Given the description of an element on the screen output the (x, y) to click on. 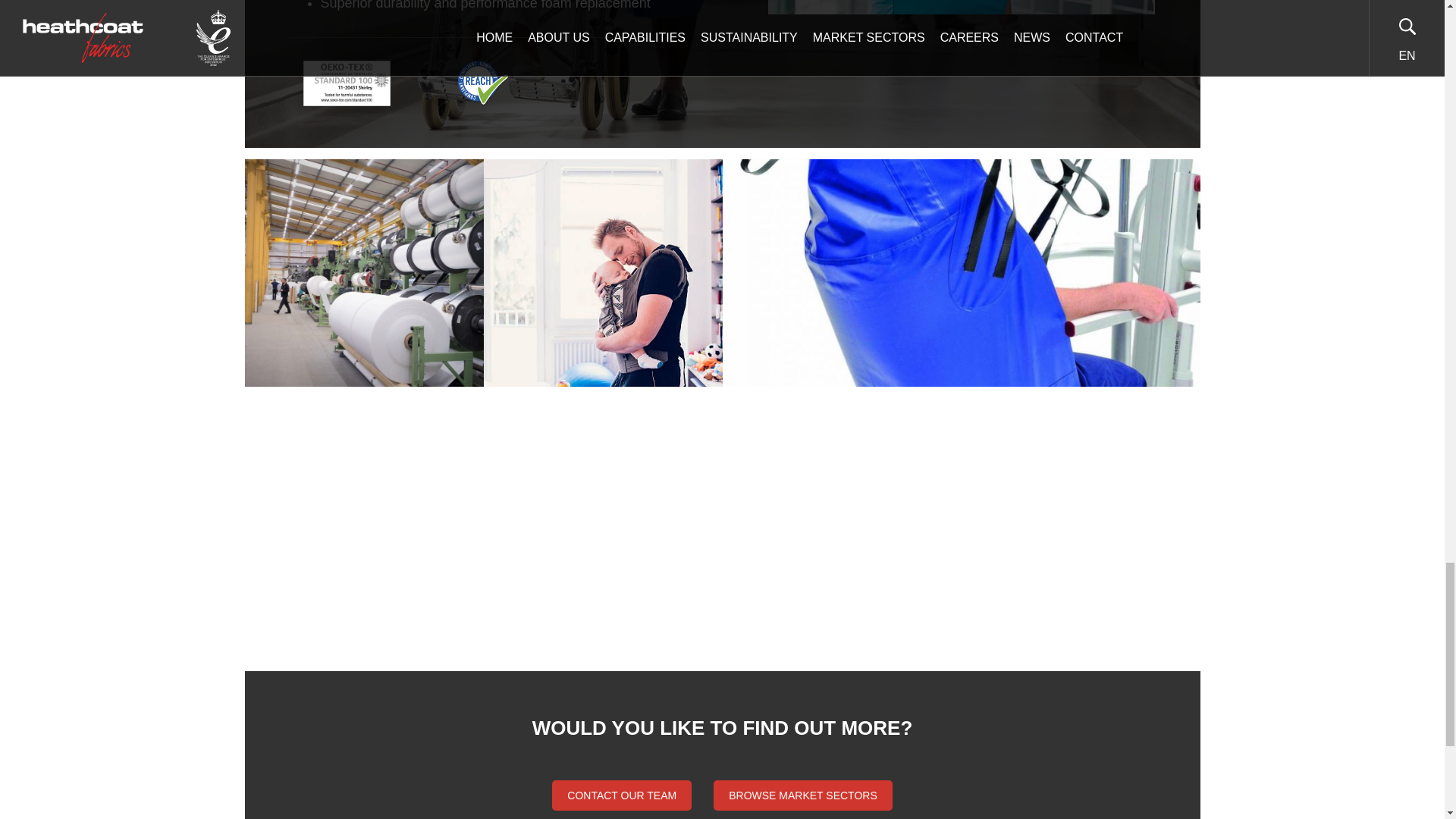
CONTACT OUR TEAM (621, 795)
BROWSE MARKET SECTORS (802, 795)
